Given the description of an element on the screen output the (x, y) to click on. 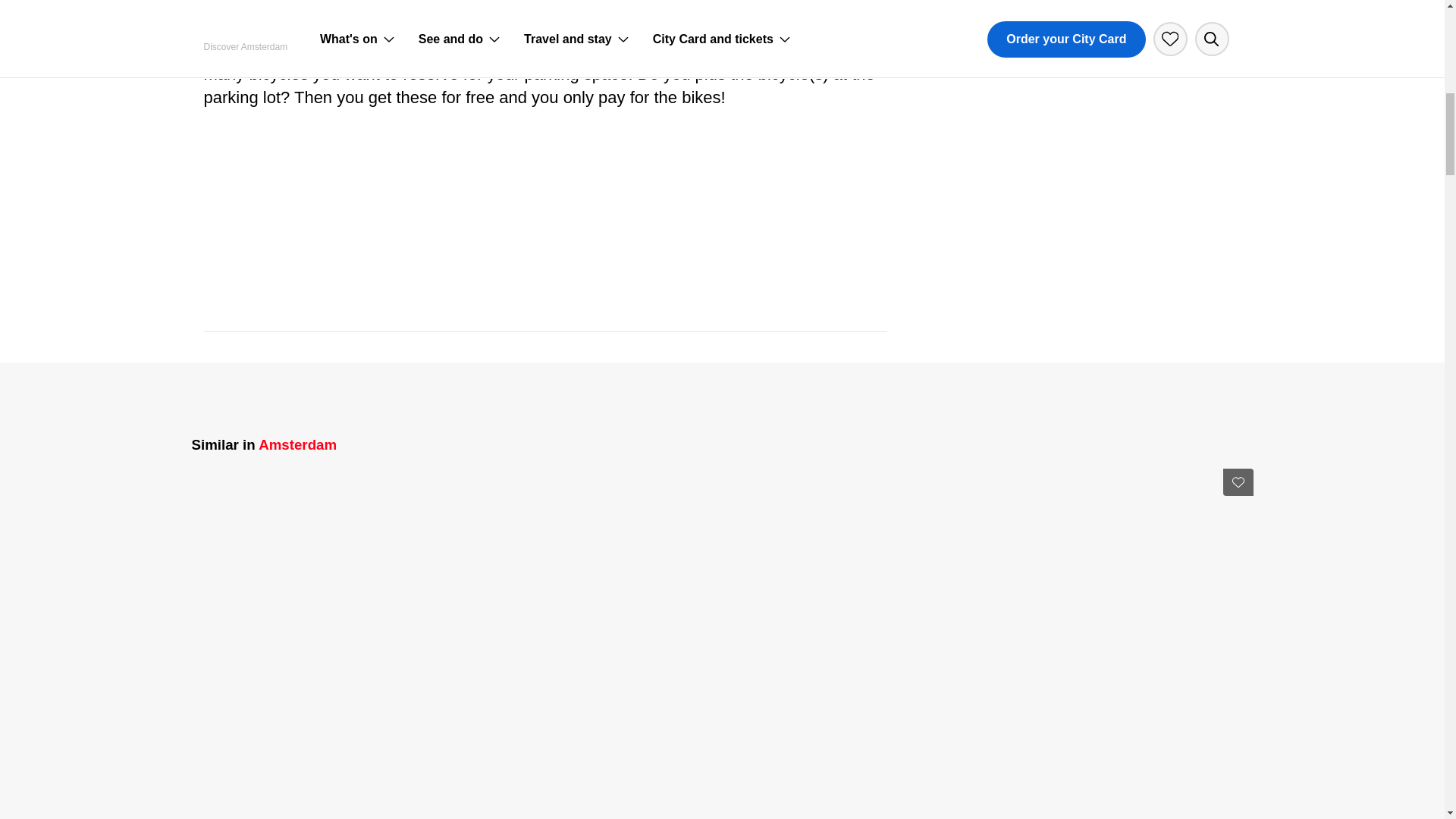
Add to favourites (1237, 482)
